Given the description of an element on the screen output the (x, y) to click on. 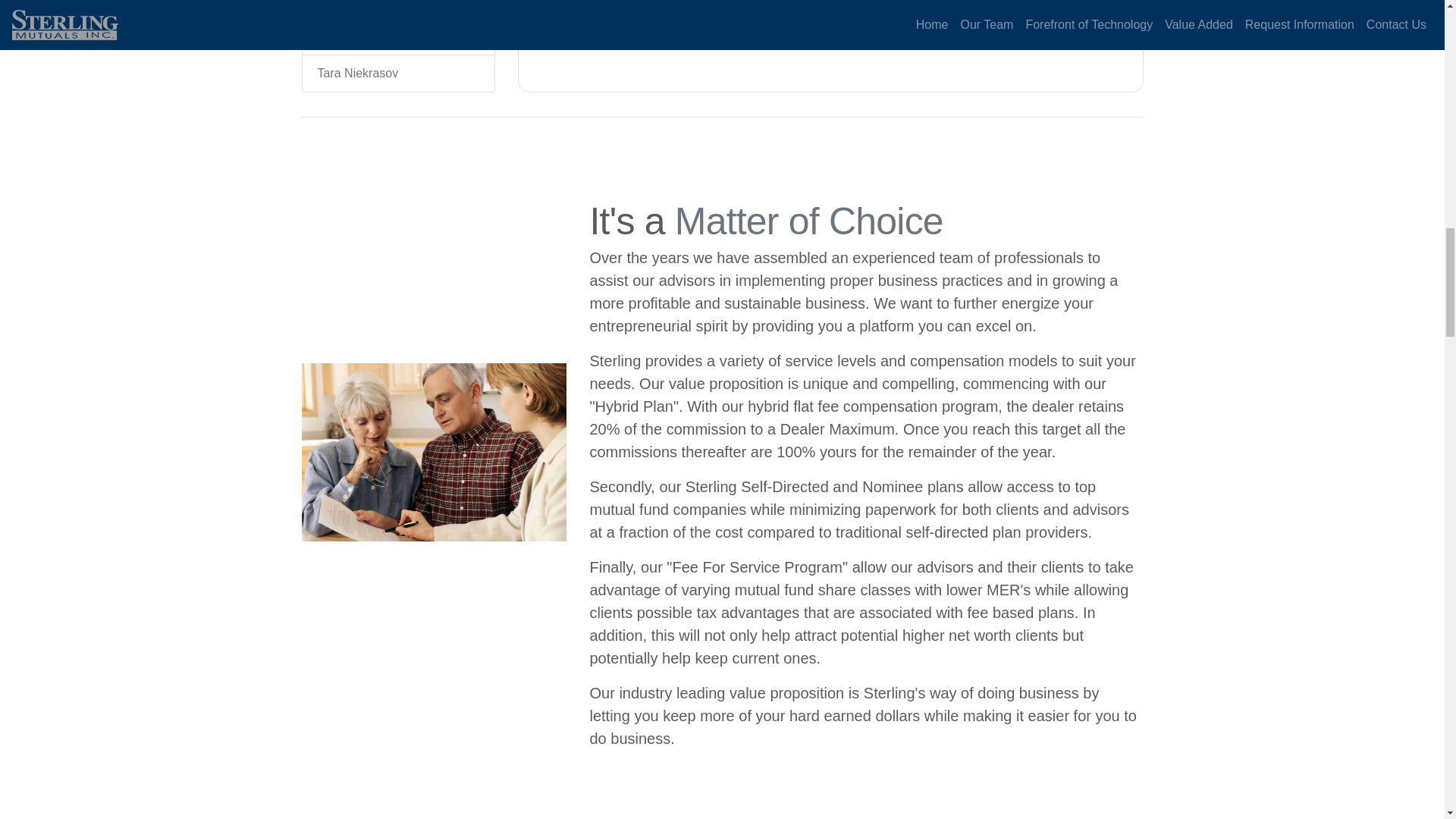
Jason Campbell (398, 36)
Tara Niekrasov (398, 73)
Rocky Ieraci (398, 9)
